Given the description of an element on the screen output the (x, y) to click on. 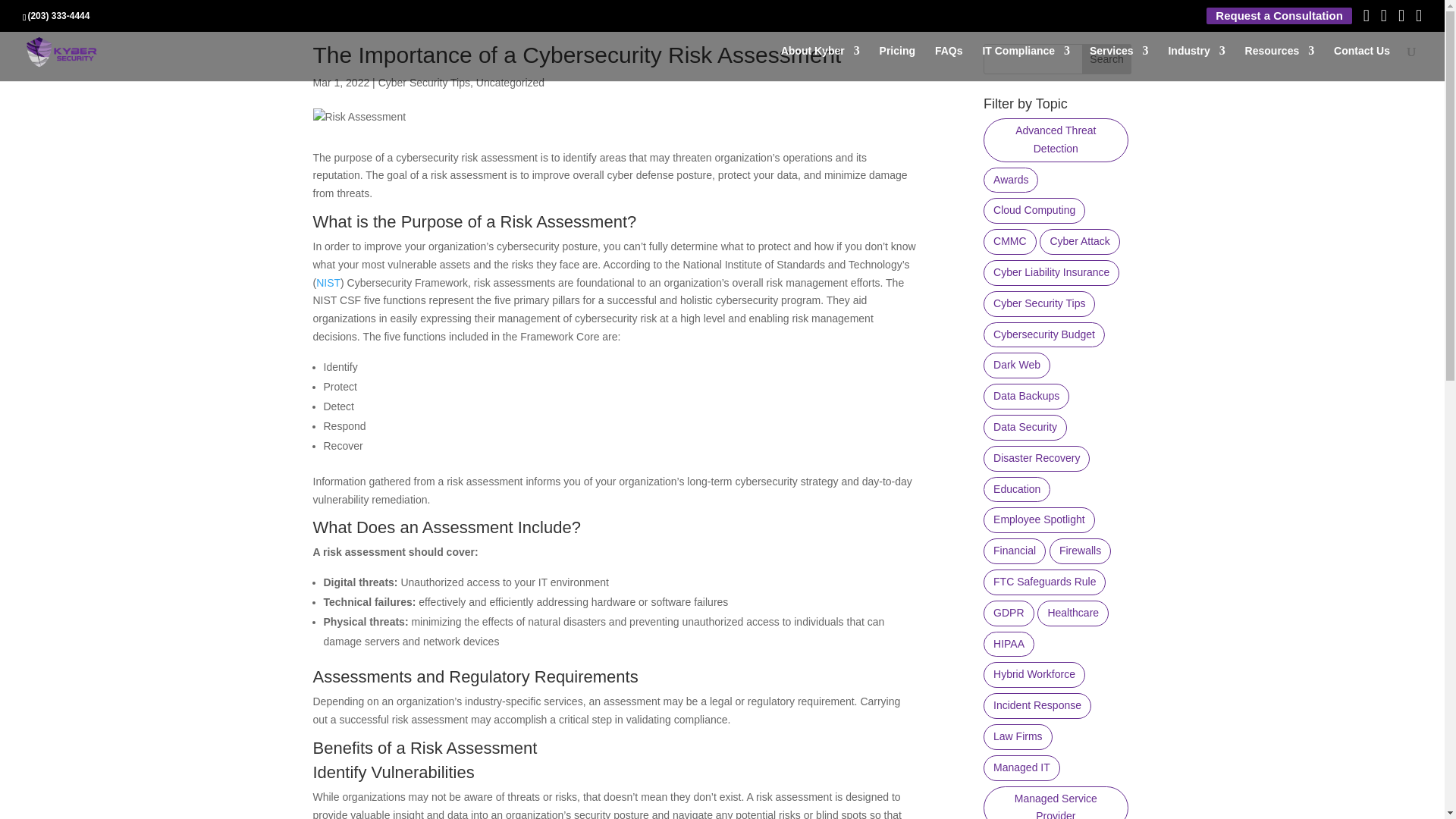
Search (1106, 59)
About Kyber (820, 63)
Pricing (897, 63)
Request a Consultation (1278, 15)
Resources (1279, 63)
Industry (1195, 63)
Services (1118, 63)
IT Compliance (1025, 63)
